Given the description of an element on the screen output the (x, y) to click on. 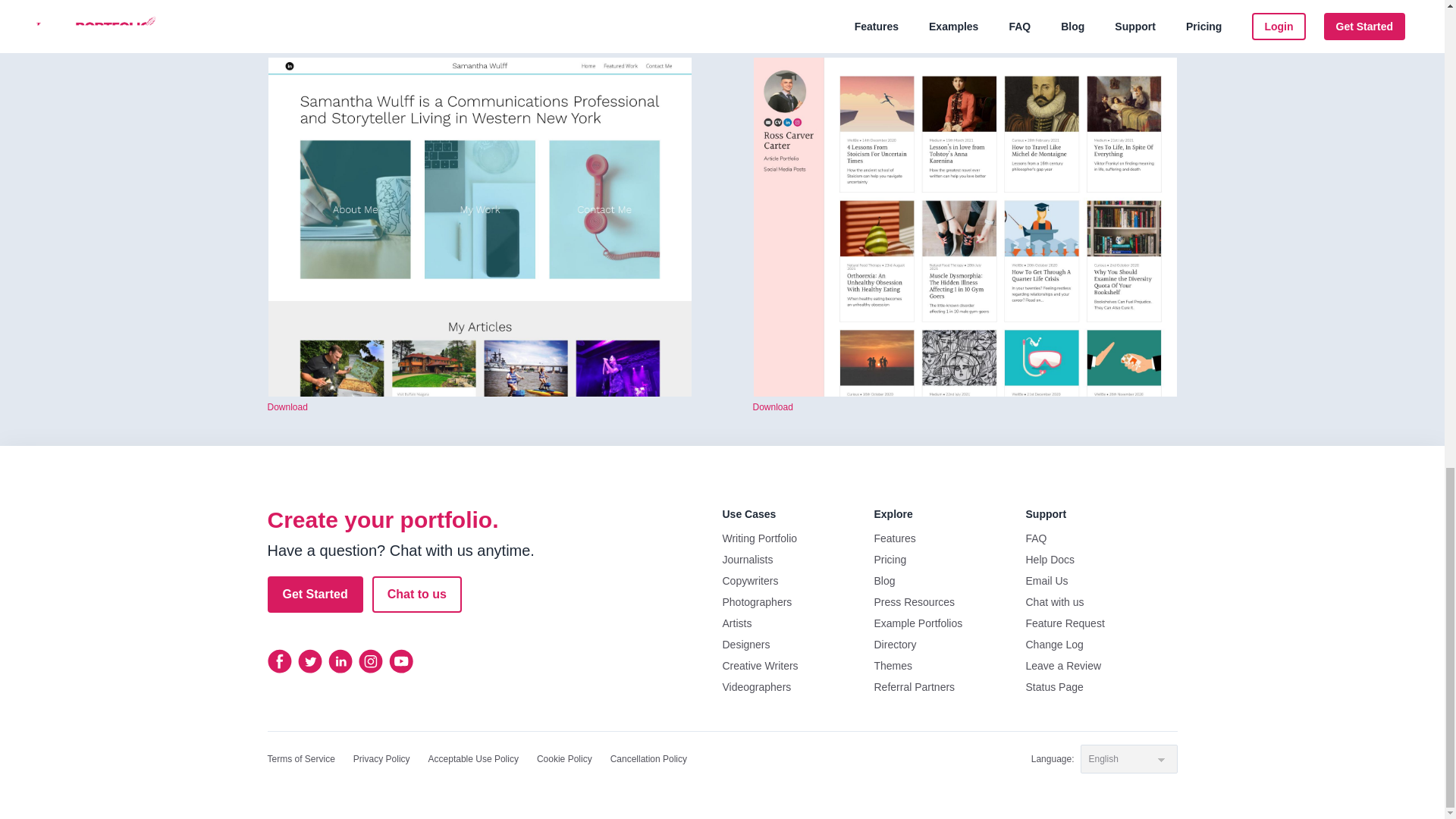
Instagram (369, 661)
Linkedin (339, 661)
YouTube (400, 661)
Twitter (309, 661)
Facebook (278, 661)
